Given the description of an element on the screen output the (x, y) to click on. 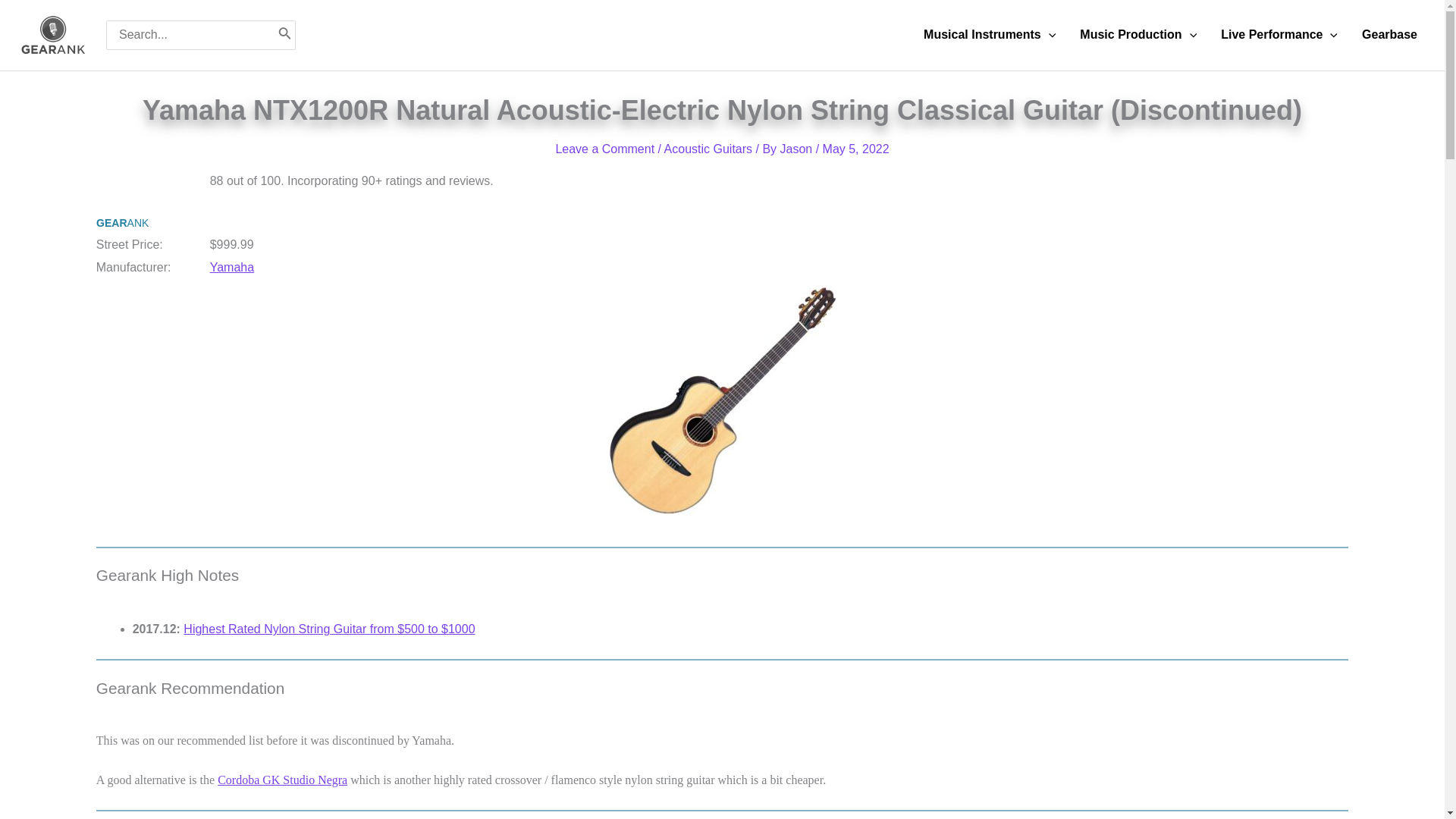
Gearbase (1389, 34)
Music Production (1137, 34)
Musical Instruments (989, 34)
Live Performance (1278, 34)
View all posts by Jason (797, 148)
